Given the description of an element on the screen output the (x, y) to click on. 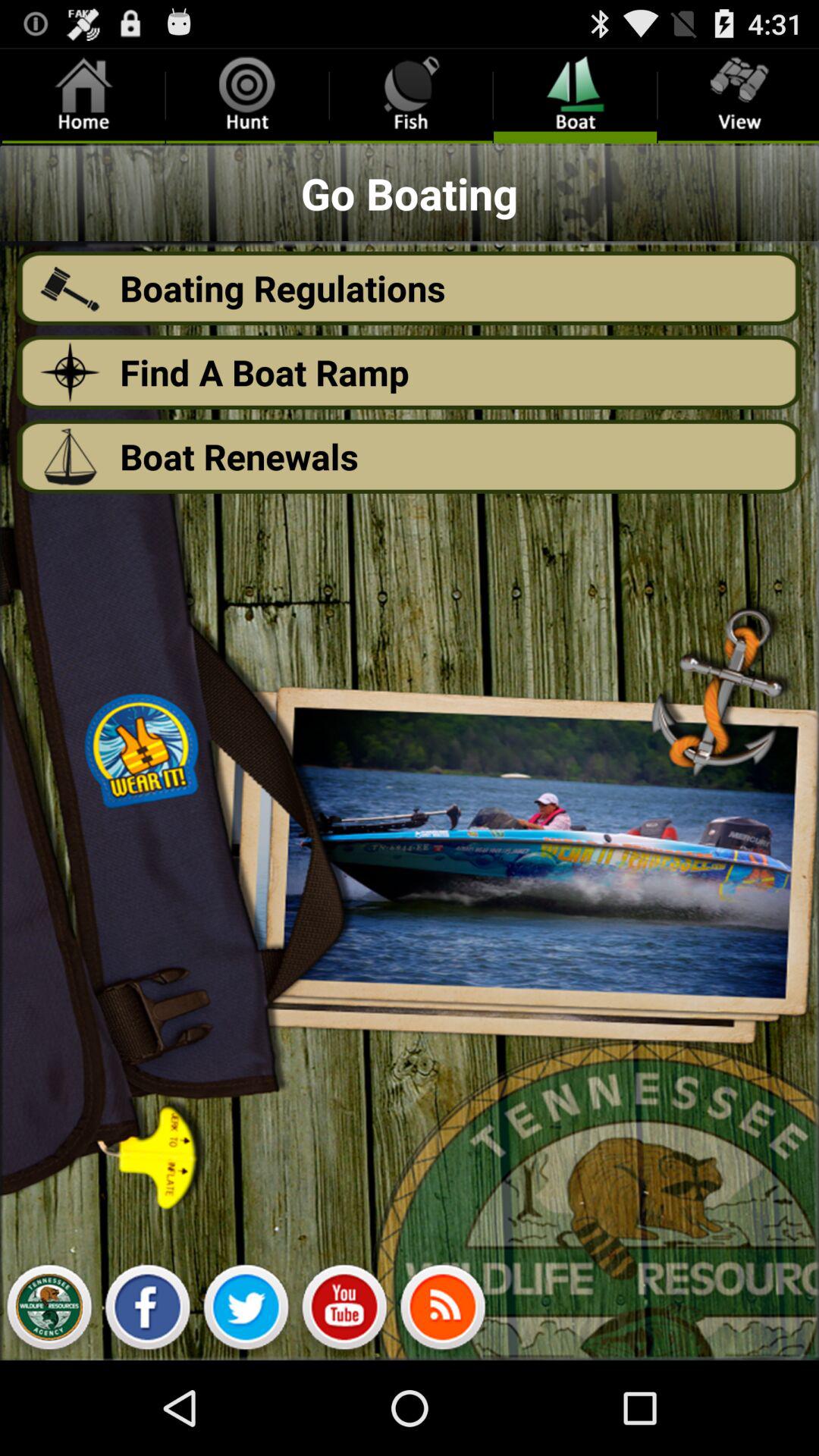
share to twitter (245, 1311)
